Given the description of an element on the screen output the (x, y) to click on. 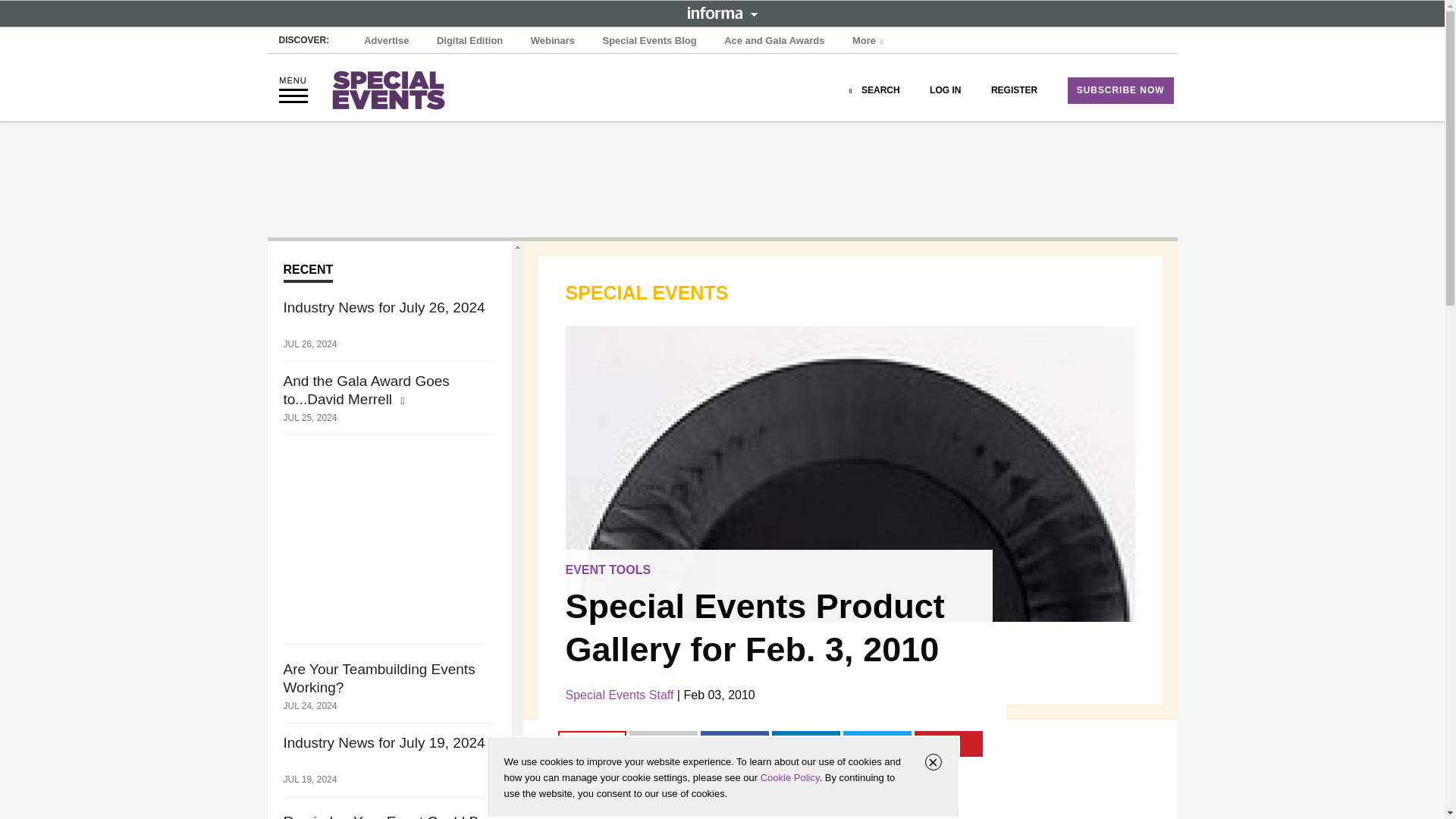
Digital Edition (469, 41)
Webinars (552, 41)
More (869, 41)
Advertise (386, 41)
Ace and Gala Awards (773, 41)
INFORMA (722, 12)
Cookie Policy (789, 777)
Special Events Blog (648, 41)
